Given the description of an element on the screen output the (x, y) to click on. 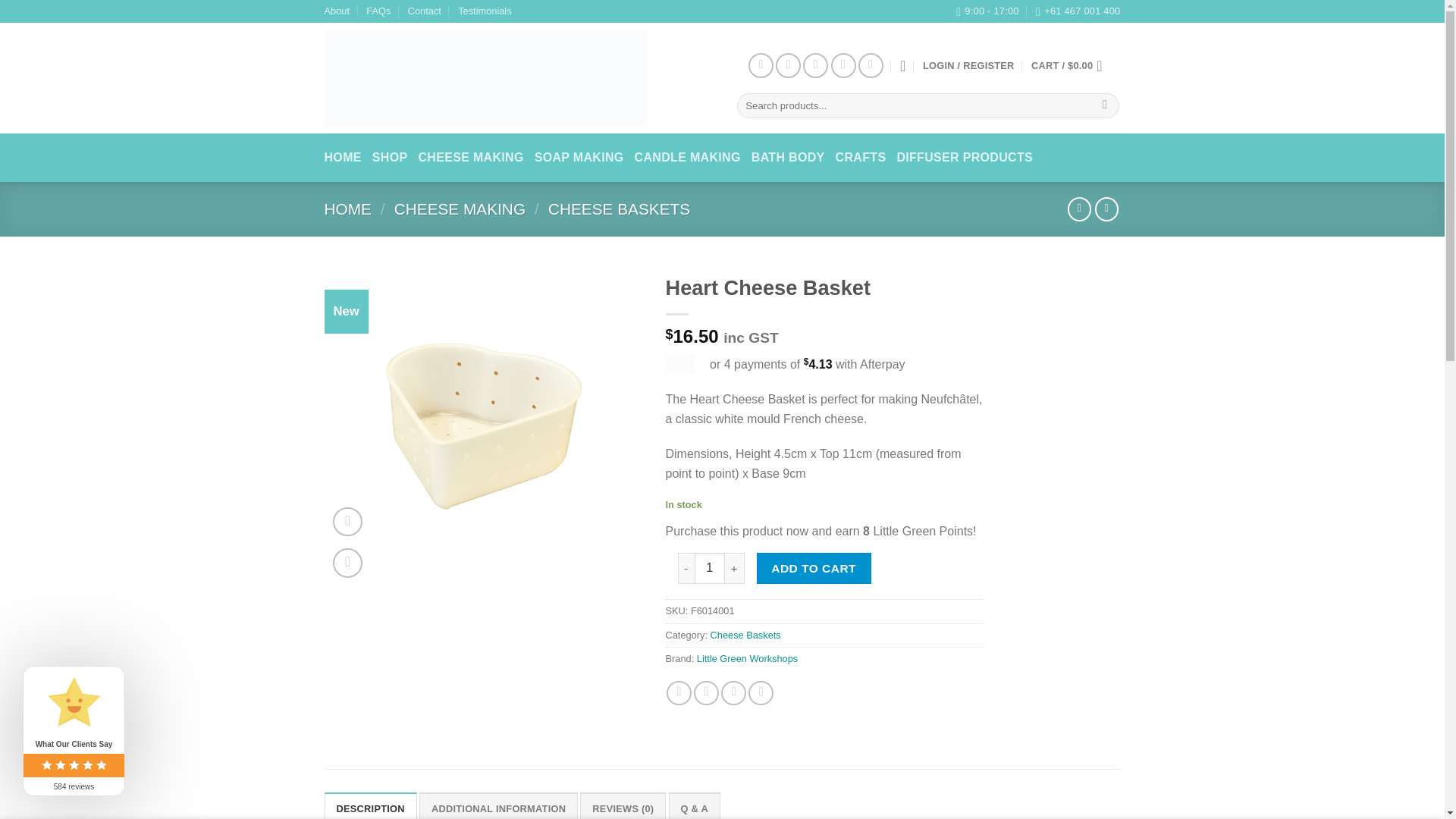
HOME (347, 208)
Testimonials (484, 11)
SOAP MAKING (579, 157)
CHEESE BASKETS (619, 208)
CANDLE MAKING (687, 157)
Follow on Pinterest (843, 65)
Cart (1071, 65)
1 (709, 567)
Contact (424, 11)
CHEESE MAKING (469, 157)
CRAFTS (860, 157)
Follow on X (815, 65)
Follow on Instagram (788, 65)
FAQs (378, 11)
Login (968, 65)
